Given the description of an element on the screen output the (x, y) to click on. 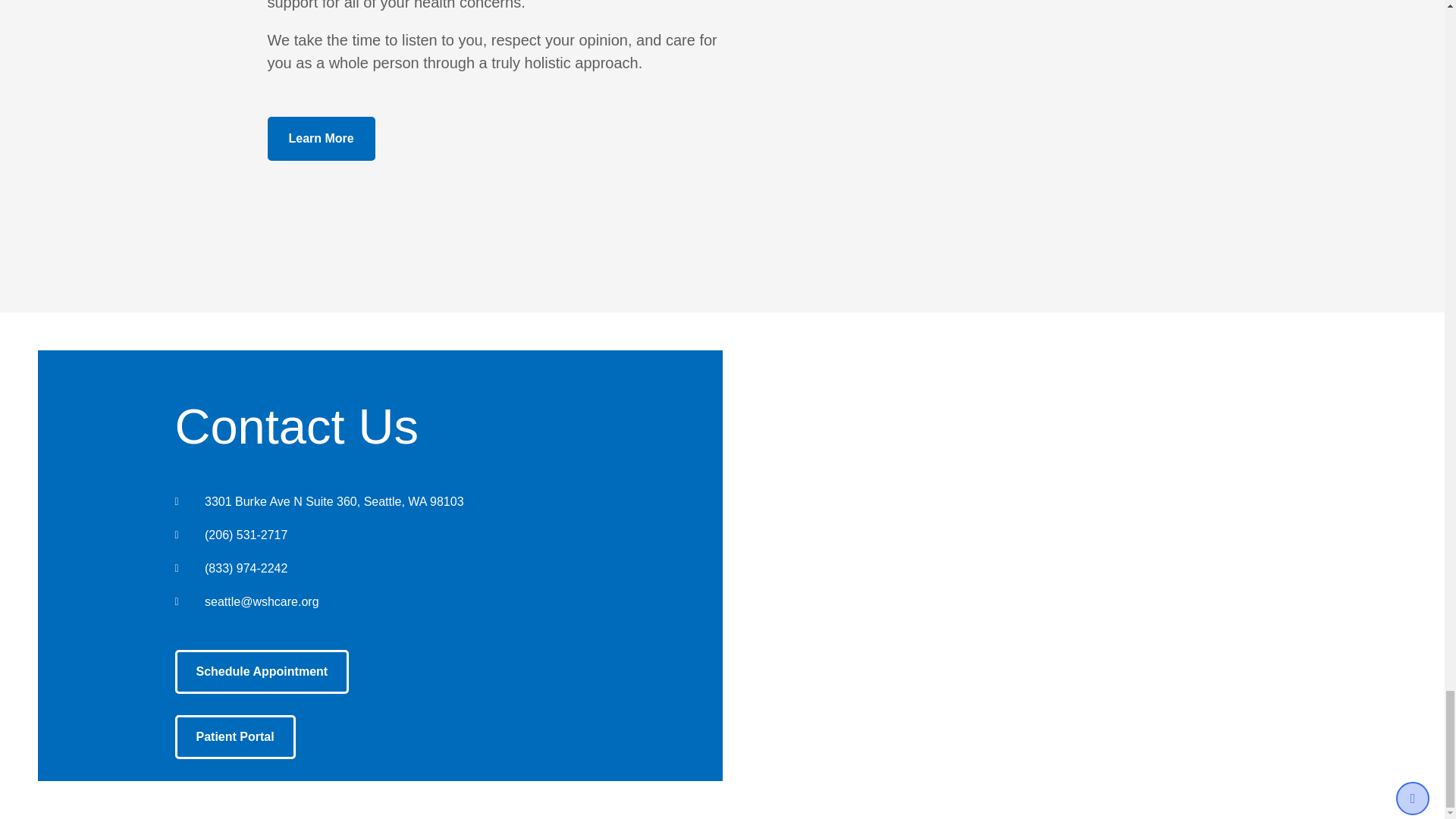
Patient Portal (234, 736)
Schedule Appointment (261, 671)
Learn More (320, 138)
3301 Burke Ave N Suite 360, Seattle WA 98103 (1064, 605)
